Given the description of an element on the screen output the (x, y) to click on. 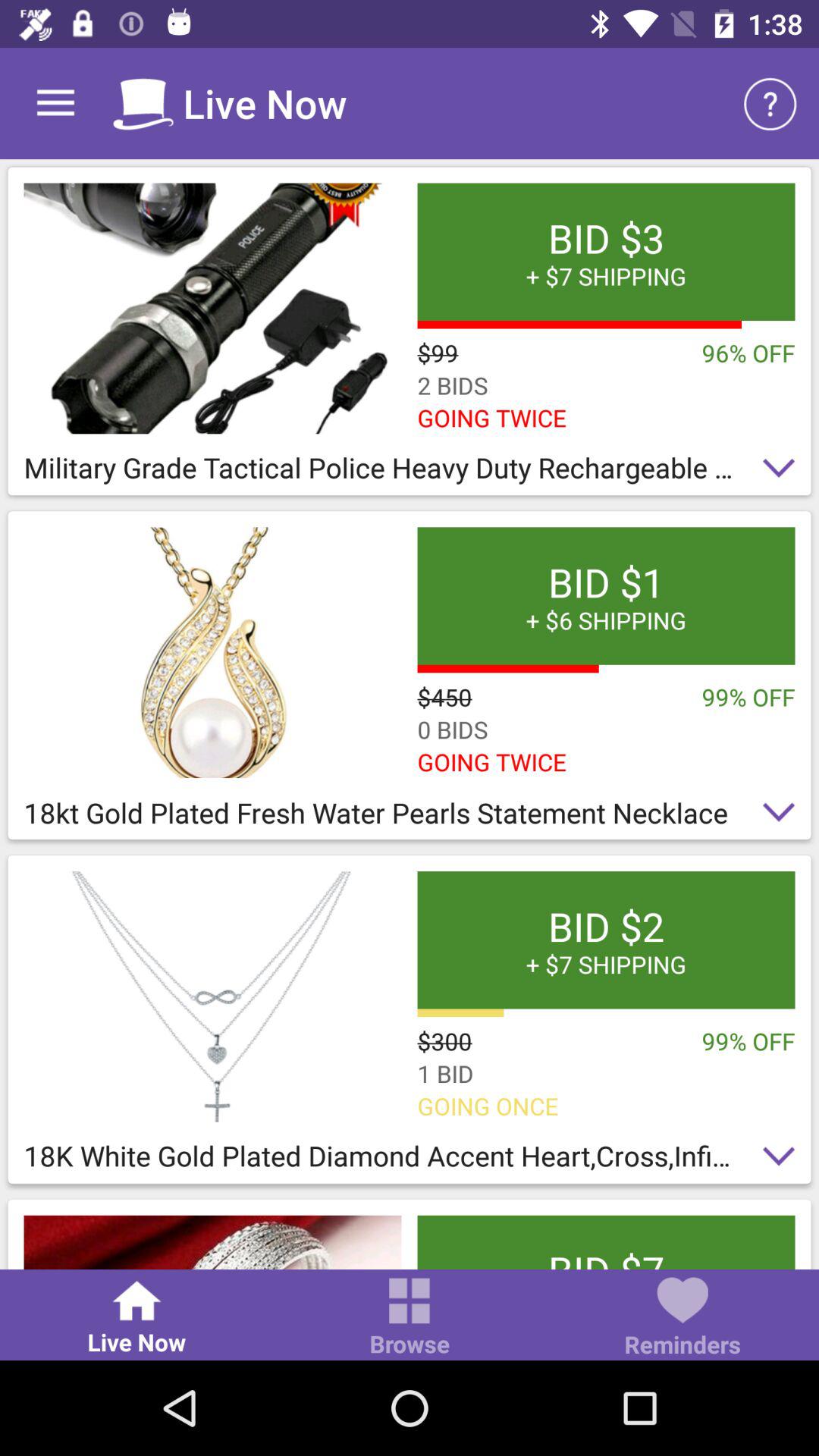
product image (212, 308)
